Given the description of an element on the screen output the (x, y) to click on. 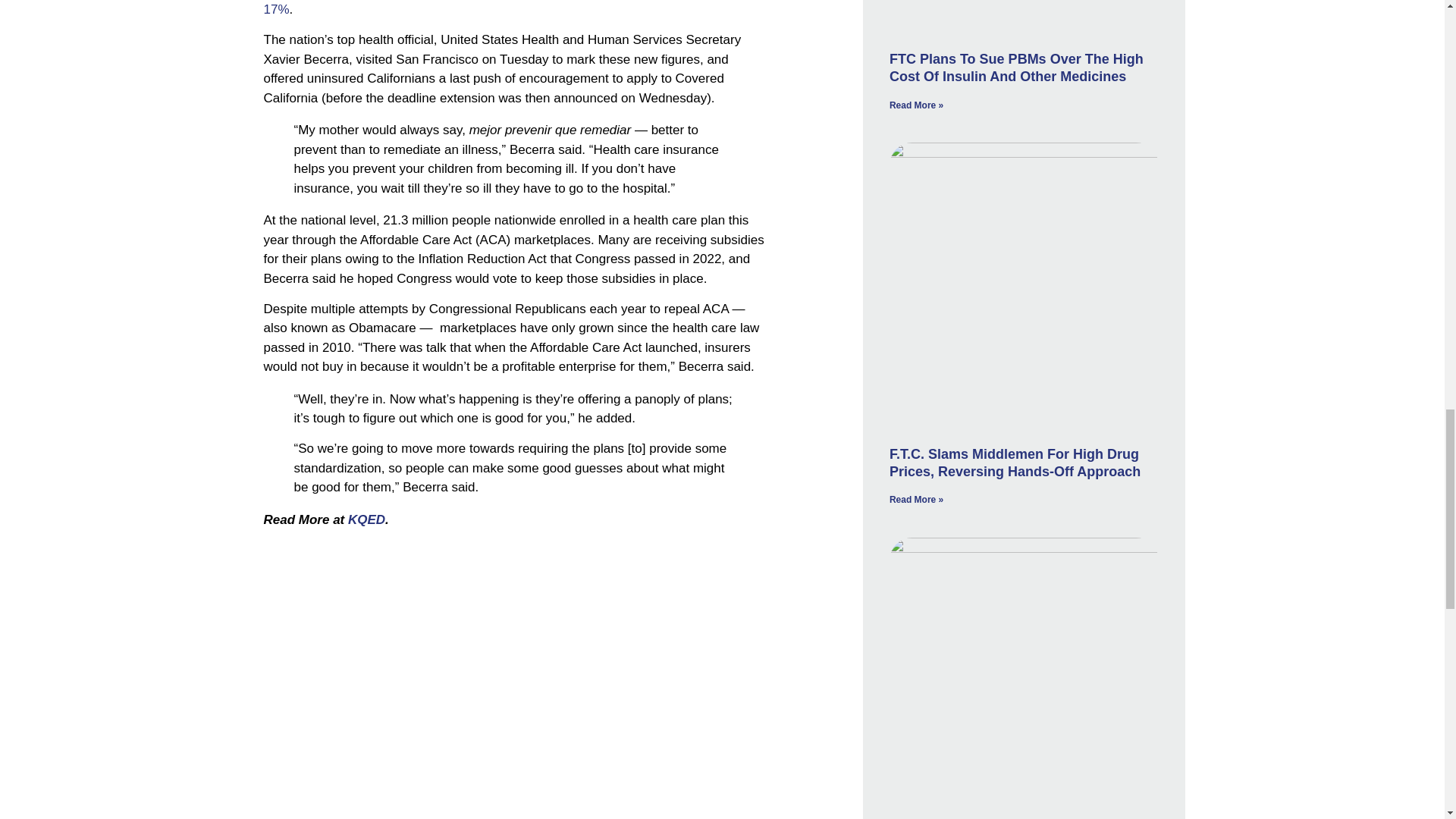
KQED (366, 519)
